Given the description of an element on the screen output the (x, y) to click on. 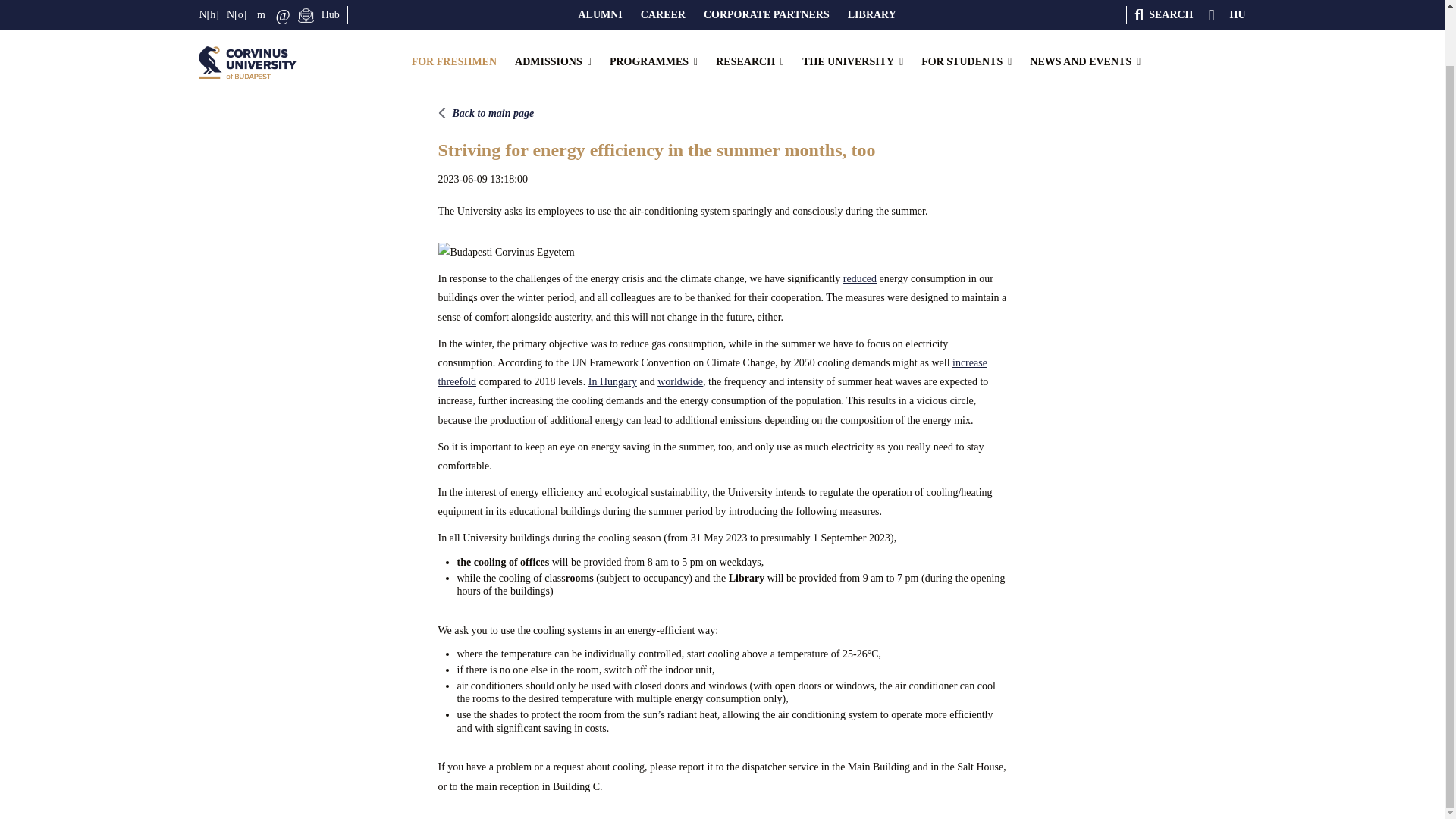
PROGRAMMES (653, 6)
FOR FRESHMEN (453, 6)
ADMISSIONS (553, 6)
